Given the description of an element on the screen output the (x, y) to click on. 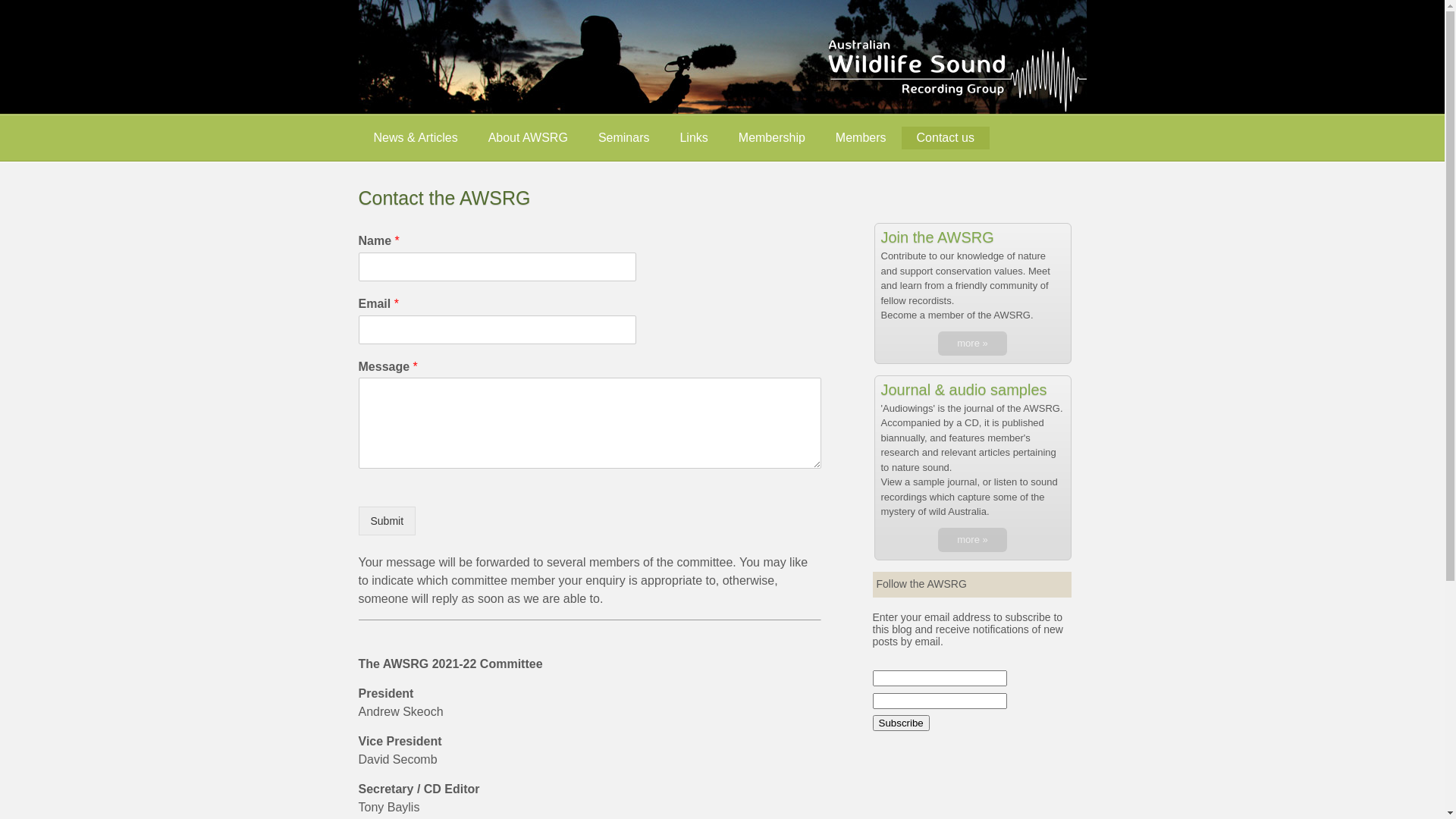
News & Articles Element type: text (414, 137)
Seminars Element type: text (624, 137)
About AWSRG Element type: text (528, 137)
Submit Element type: text (386, 520)
Subscribe Element type: text (900, 723)
Membership Element type: text (771, 137)
Links Element type: text (693, 137)
Contact us Element type: text (945, 137)
Members Element type: text (860, 137)
